Given the description of an element on the screen output the (x, y) to click on. 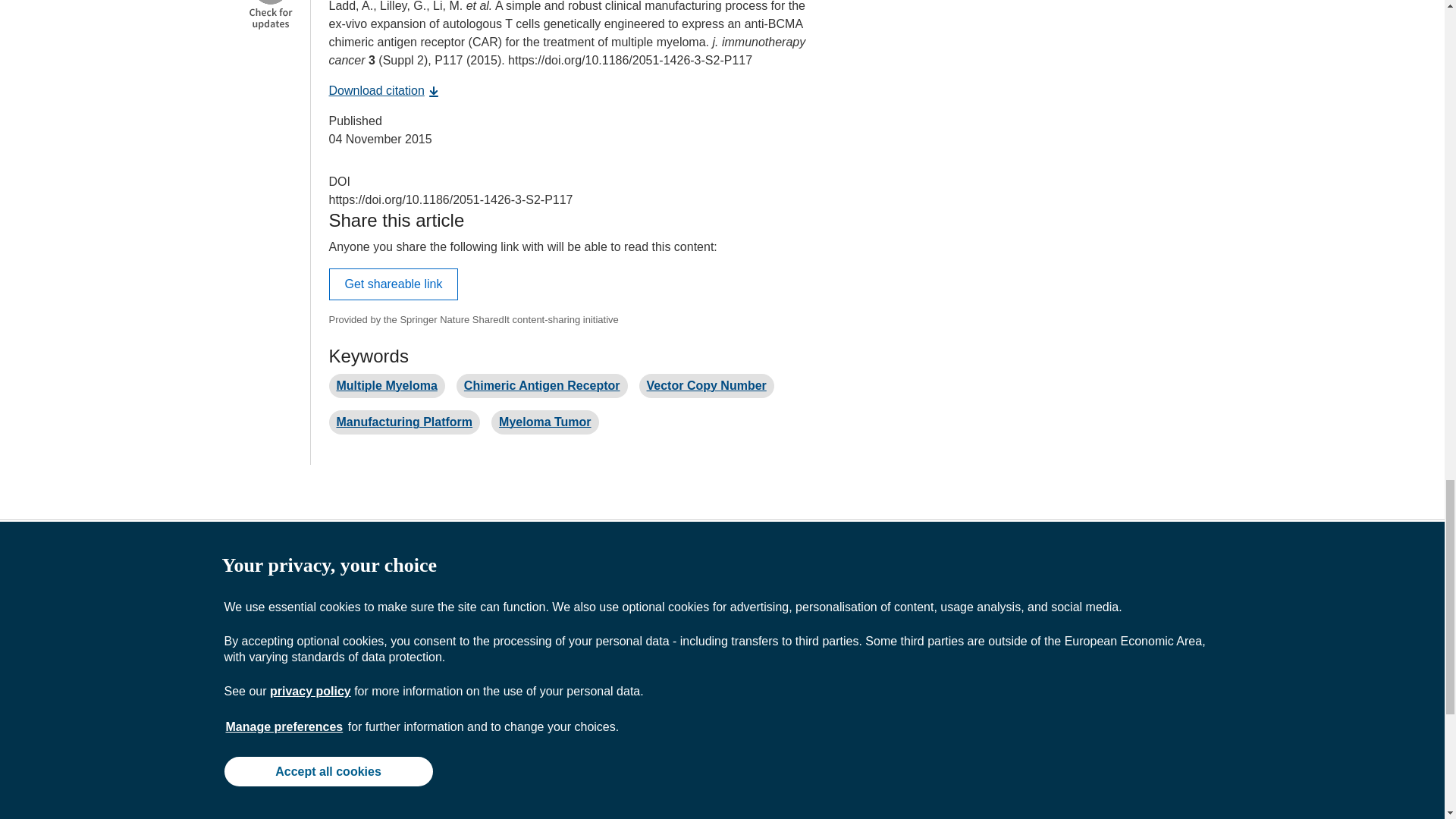
Digital Object Identifier (339, 181)
